Given the description of an element on the screen output the (x, y) to click on. 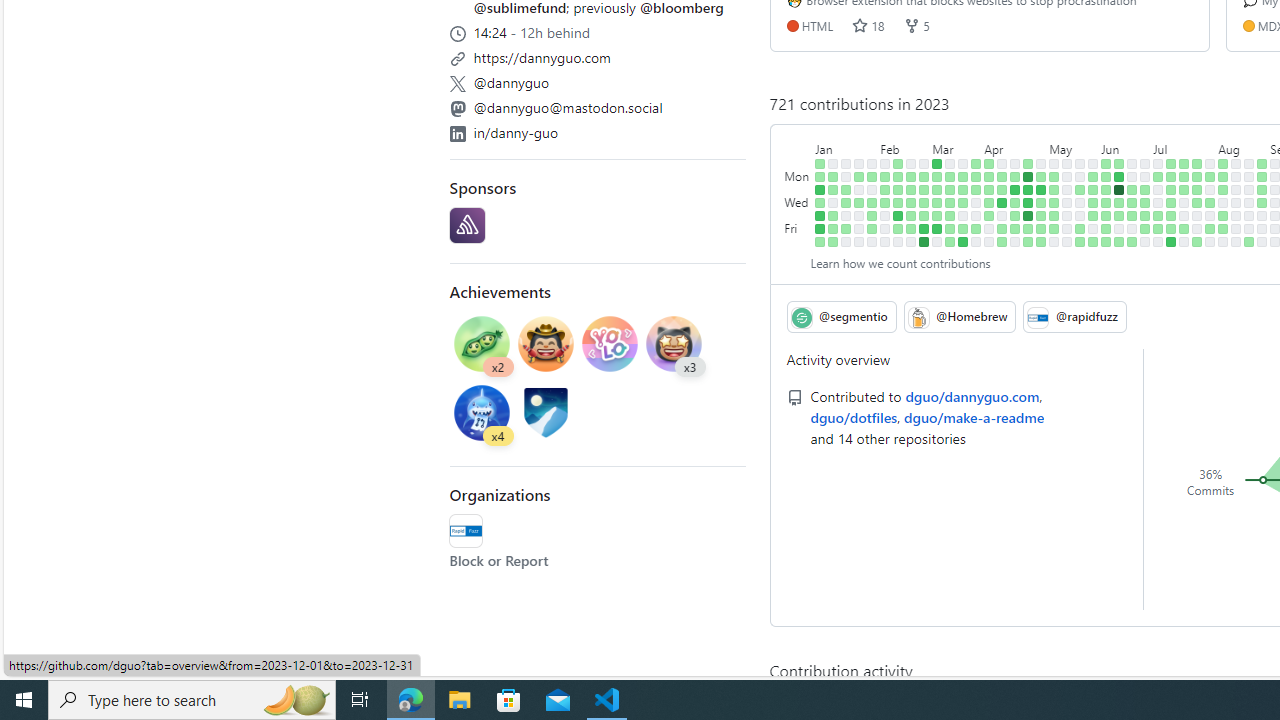
No contributions on July 2nd. (1158, 163)
No contributions on March 30th. (976, 215)
forks 5 (916, 25)
1 contribution on May 4th. (1041, 215)
January (846, 145)
No contributions on March 29th. (976, 202)
2 contributions on July 12th. (1171, 202)
5 contributions on June 30th. (1145, 228)
6 contributions on June 15th. (1119, 215)
No contributions on January 24th. (859, 189)
3 contributions on August 7th. (1223, 176)
2 contributions on May 11th. (1054, 215)
No contributions on July 20th. (1184, 215)
1 contribution on July 3rd. (1158, 176)
No contributions on August 18th. (1236, 228)
